Given the description of an element on the screen output the (x, y) to click on. 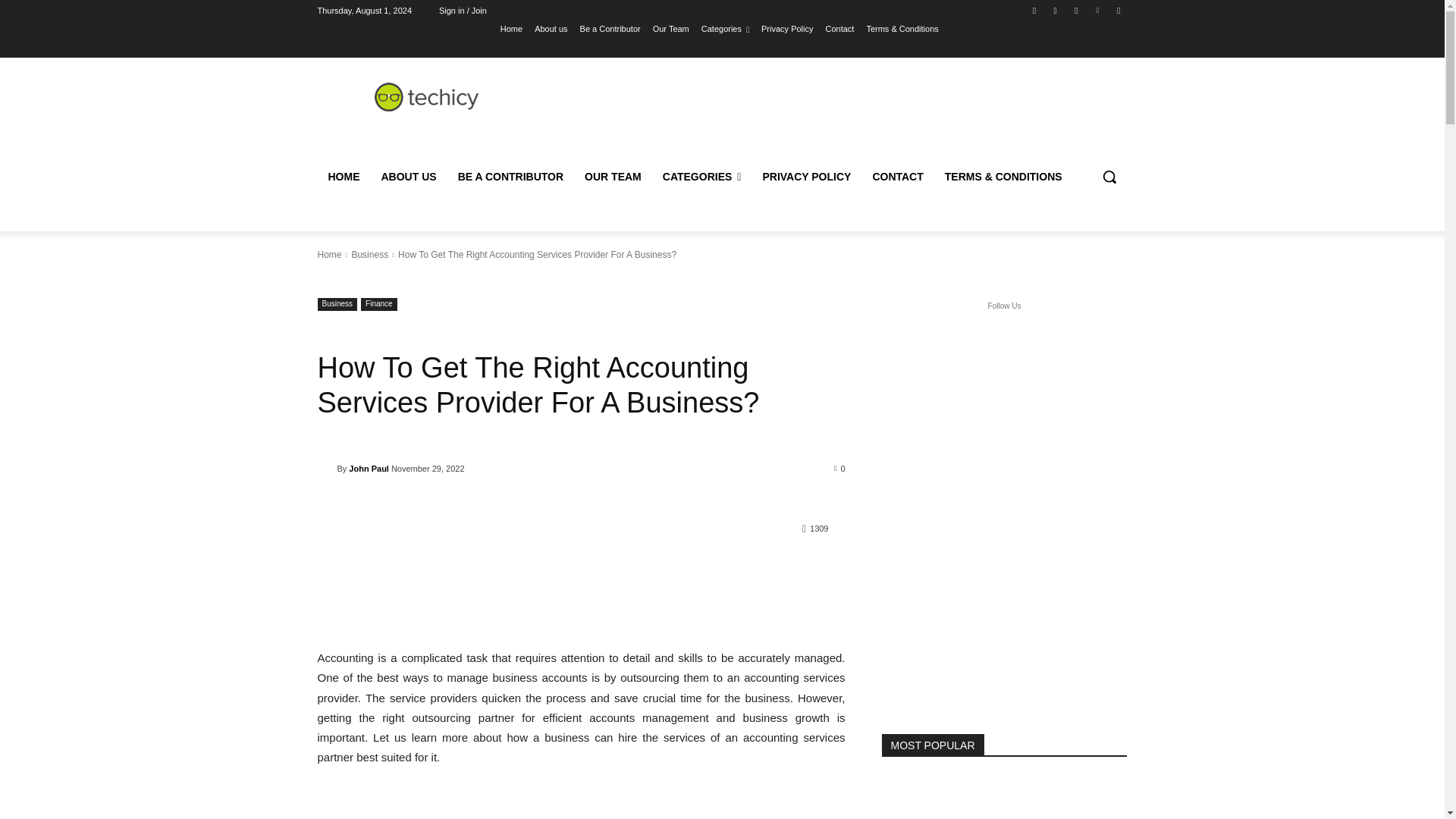
Youtube (1117, 9)
Vimeo (1097, 9)
About us (550, 28)
Categories (725, 28)
Instagram (1055, 9)
View all posts in Business (369, 254)
Twitter (1075, 9)
Privacy Policy (786, 28)
John Paul (326, 468)
Facebook (1034, 9)
Home (511, 28)
Contact (839, 28)
Our Team (670, 28)
Be a Contributor (609, 28)
